Given the description of an element on the screen output the (x, y) to click on. 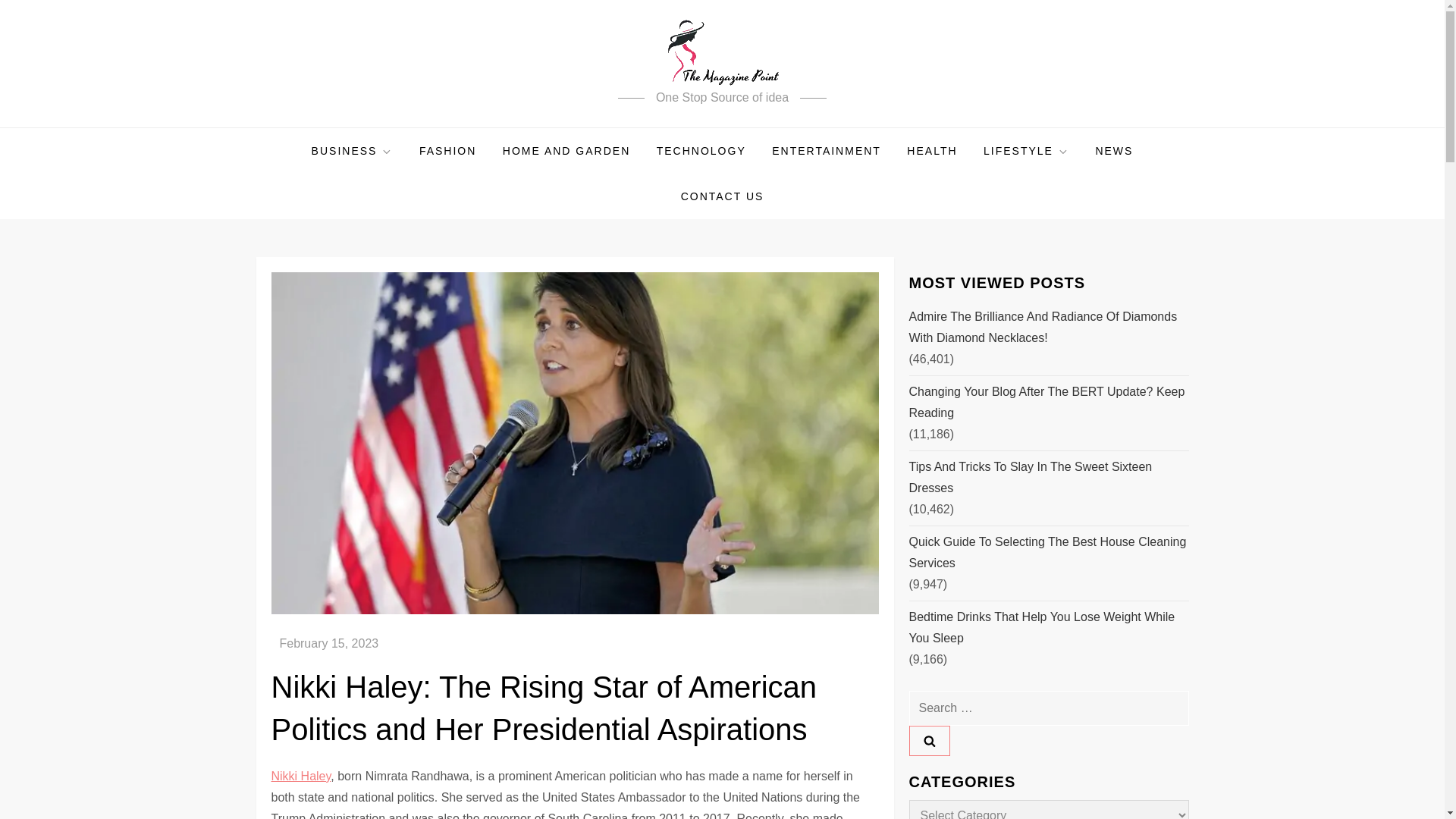
FASHION (447, 150)
BUSINESS (351, 150)
HOME AND GARDEN (567, 150)
CONTACT US (722, 196)
LIFESTYLE (1026, 150)
Nikki Haley (300, 775)
ENTERTAINMENT (826, 150)
HEALTH (931, 150)
TECHNOLOGY (701, 150)
NEWS (1113, 150)
February 15, 2023 (328, 643)
